Given the description of an element on the screen output the (x, y) to click on. 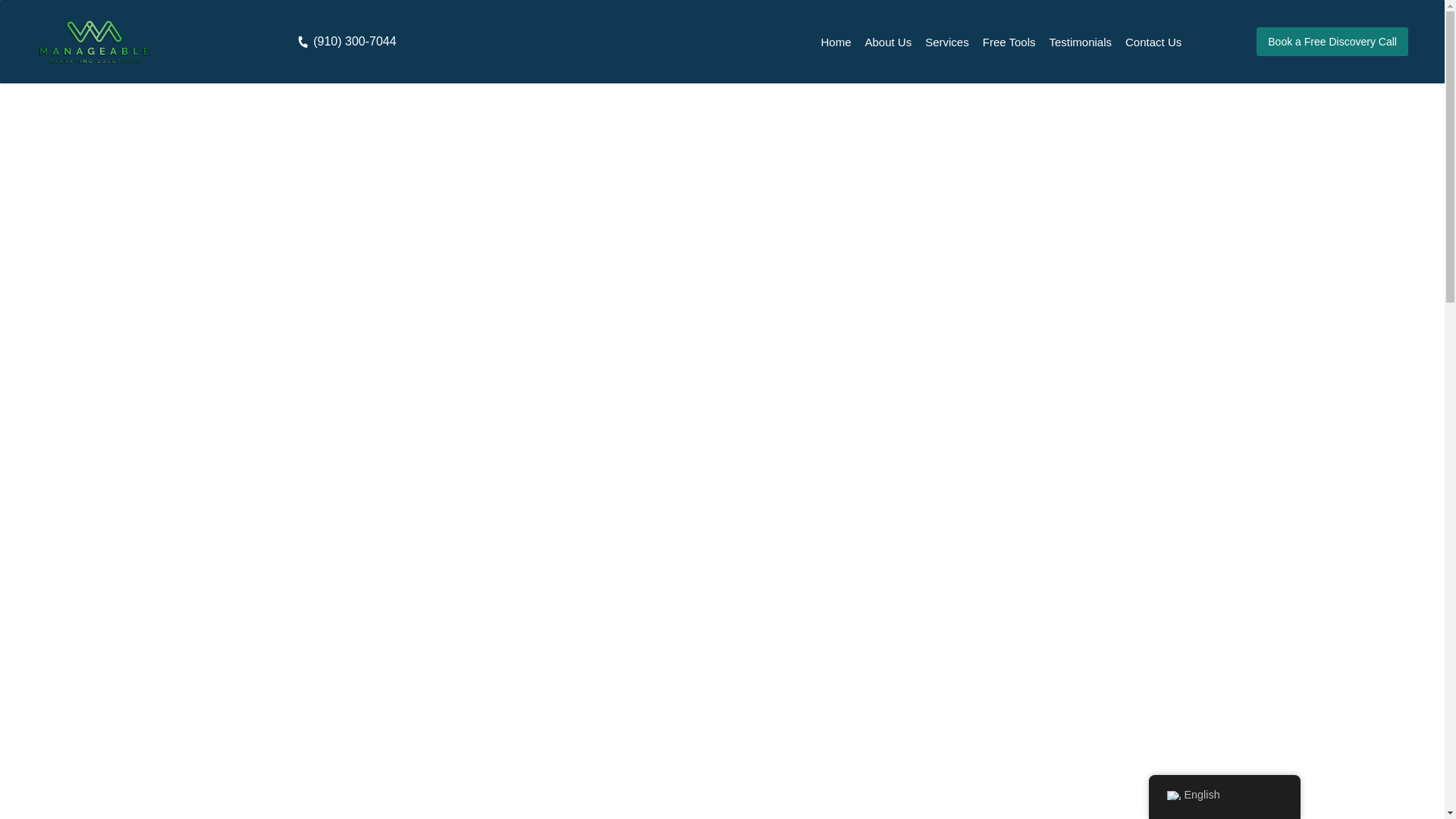
English (1172, 795)
Request (721, 263)
